Given the description of an element on the screen output the (x, y) to click on. 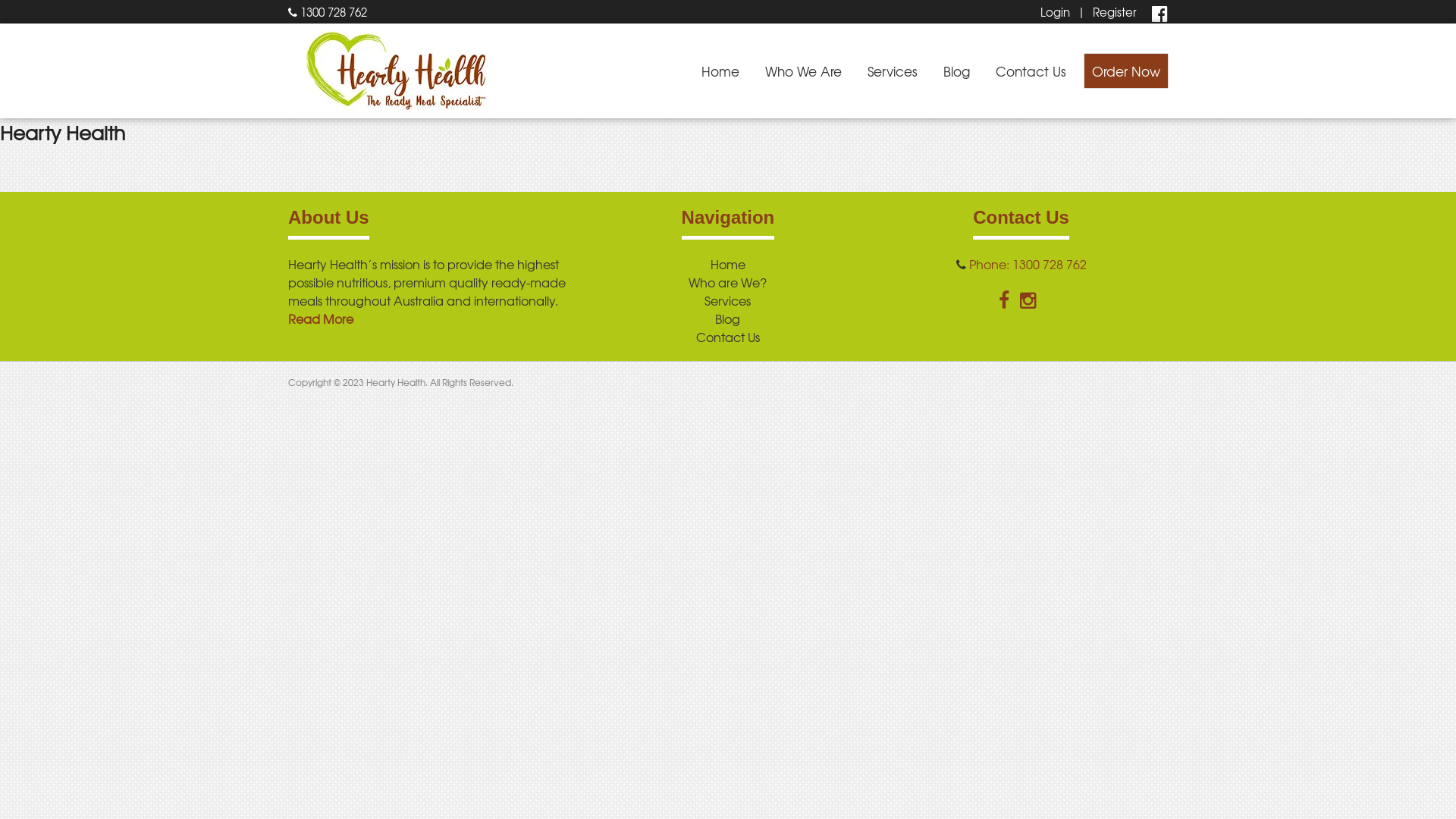
Contact Us Element type: text (1030, 70)
Register Element type: text (1114, 11)
Home Element type: text (719, 70)
Services Element type: text (892, 70)
Services Element type: text (727, 300)
Contact Us Element type: text (727, 336)
Who are We? Element type: text (727, 282)
Phone: 1300 728 762 Element type: text (1027, 263)
Read More Element type: text (320, 318)
Login Element type: text (1055, 11)
Who We Are Element type: text (803, 70)
Order Now Element type: text (1125, 70)
Blog Element type: text (727, 318)
Home Element type: text (727, 263)
Blog Element type: text (956, 70)
